Given the description of an element on the screen output the (x, y) to click on. 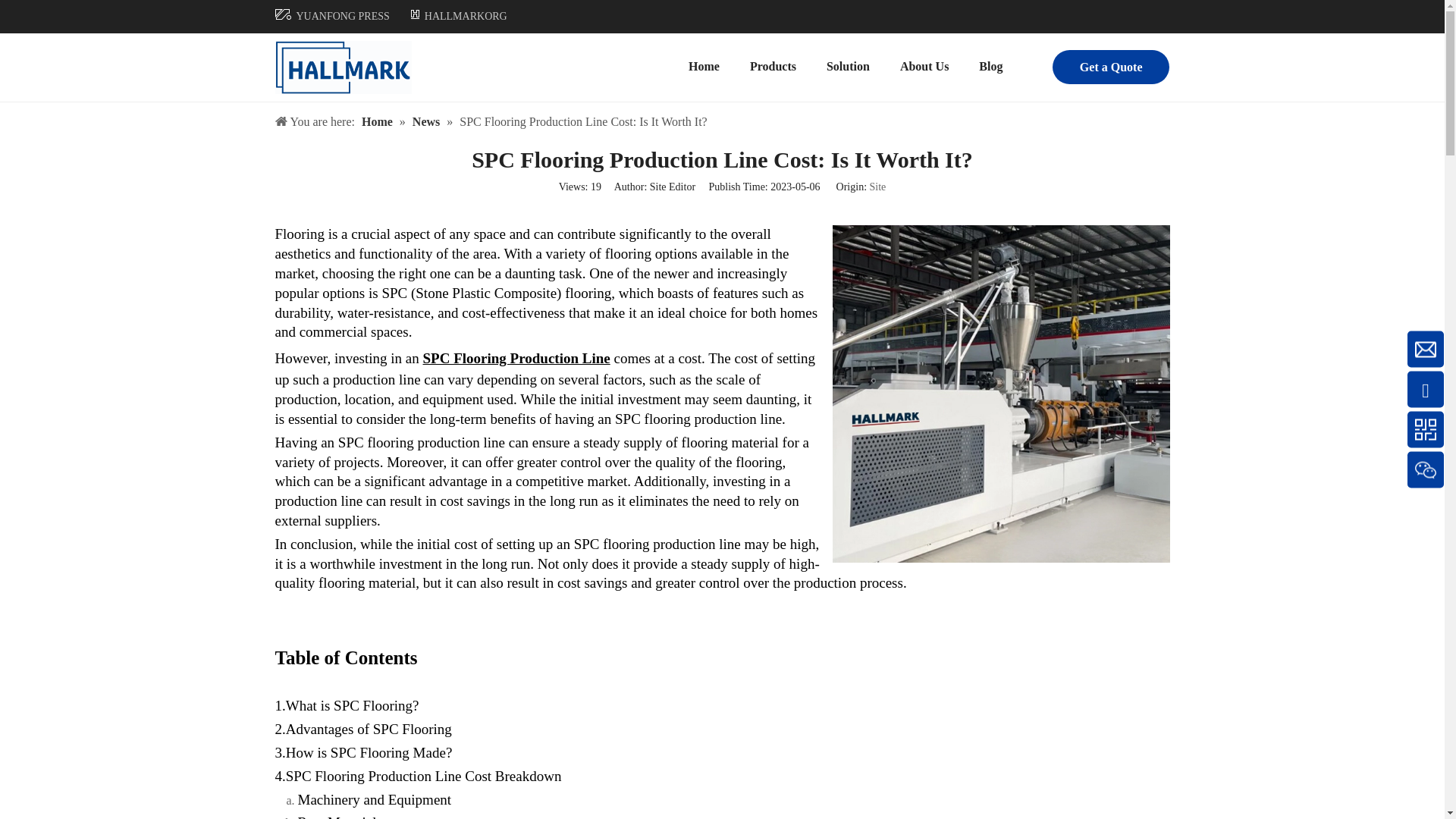
Home (703, 66)
Blog (990, 66)
Products (772, 66)
YUANFONG PRESS (341, 16)
Solution (847, 66)
hallmark-logo (415, 14)
hallmark--logo (342, 67)
Get a Quote (1111, 66)
About Us (924, 66)
SPC flooring production line (1001, 393)
